Given the description of an element on the screen output the (x, y) to click on. 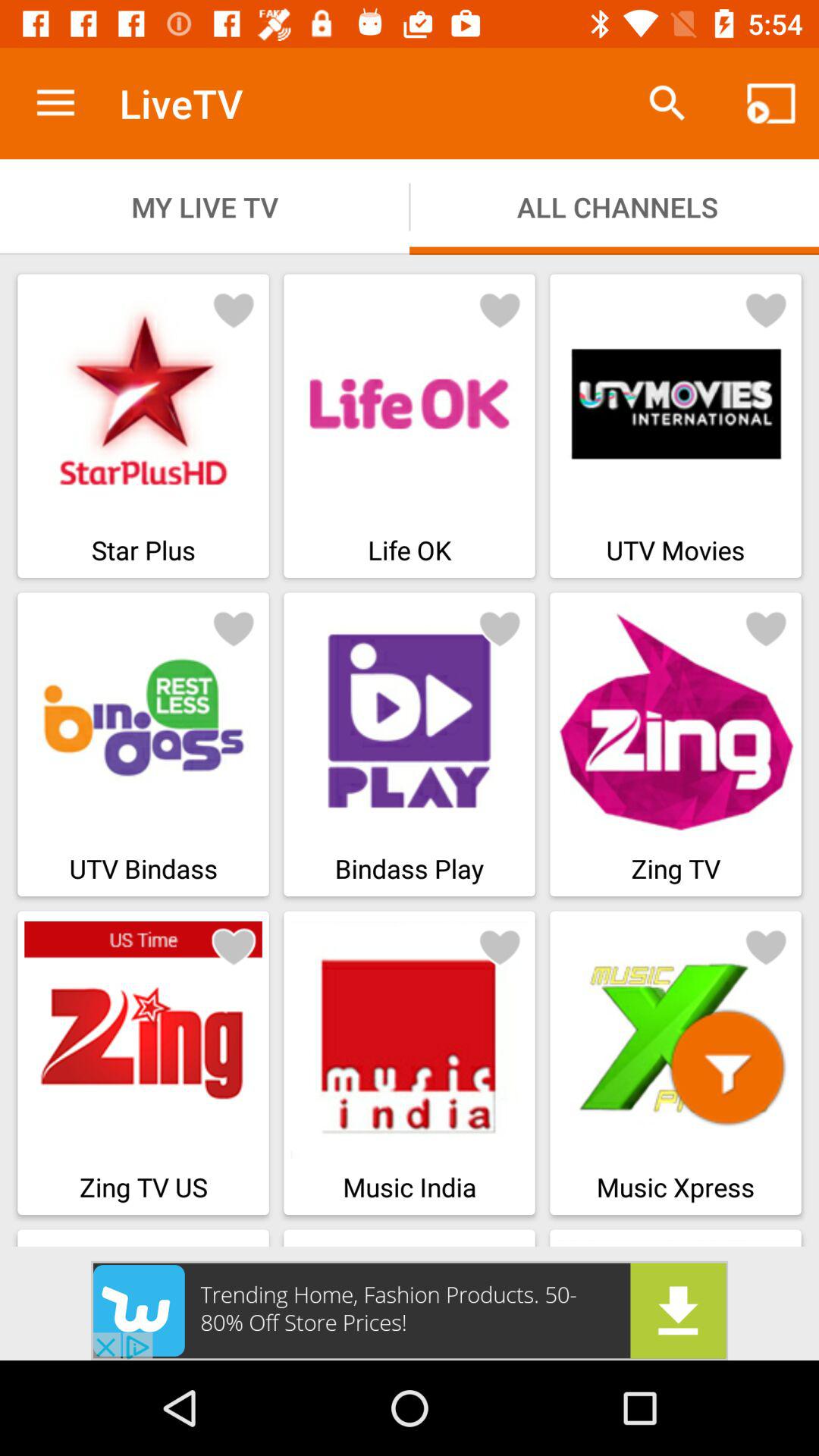
advertisement button (409, 1310)
